Given the description of an element on the screen output the (x, y) to click on. 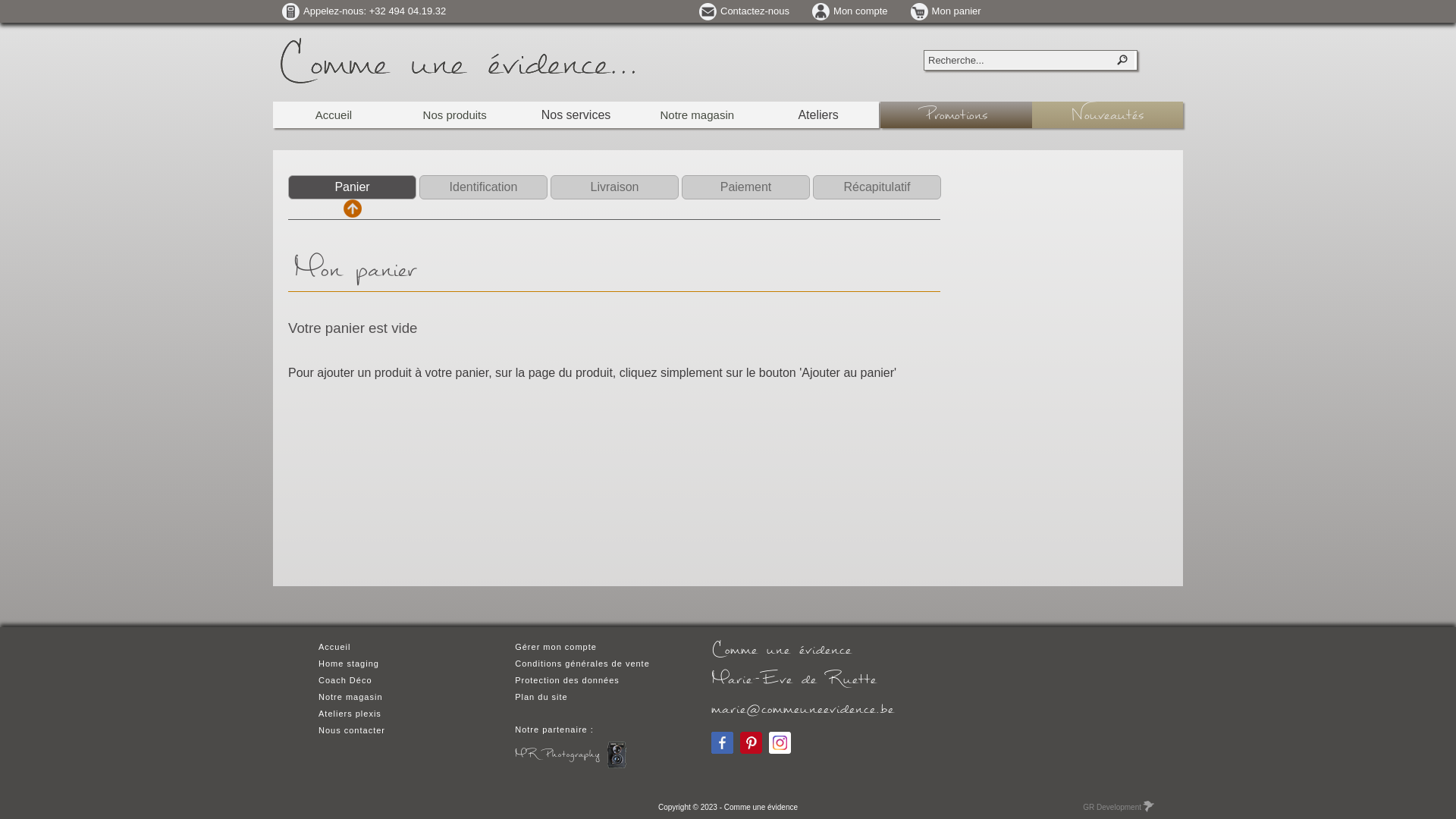
Contactez-nous Element type: text (744, 10)
Mon panier Element type: text (945, 10)
Promotions Element type: text (956, 114)
marie@commeuneevidence.be Element type: text (802, 708)
Plan du site Element type: text (540, 696)
Nous contacter Element type: text (351, 729)
Accueil Element type: text (334, 646)
Home staging Element type: text (348, 663)
Notre magasin Element type: text (350, 696)
GR Development Element type: text (1117, 807)
Nos produits Element type: text (454, 114)
Ateliers plexis Element type: text (349, 713)
Mon compte Element type: text (850, 10)
Notre magasin Element type: text (696, 114)
Accueil Element type: text (333, 114)
MR Photography Element type: text (570, 753)
